Given the description of an element on the screen output the (x, y) to click on. 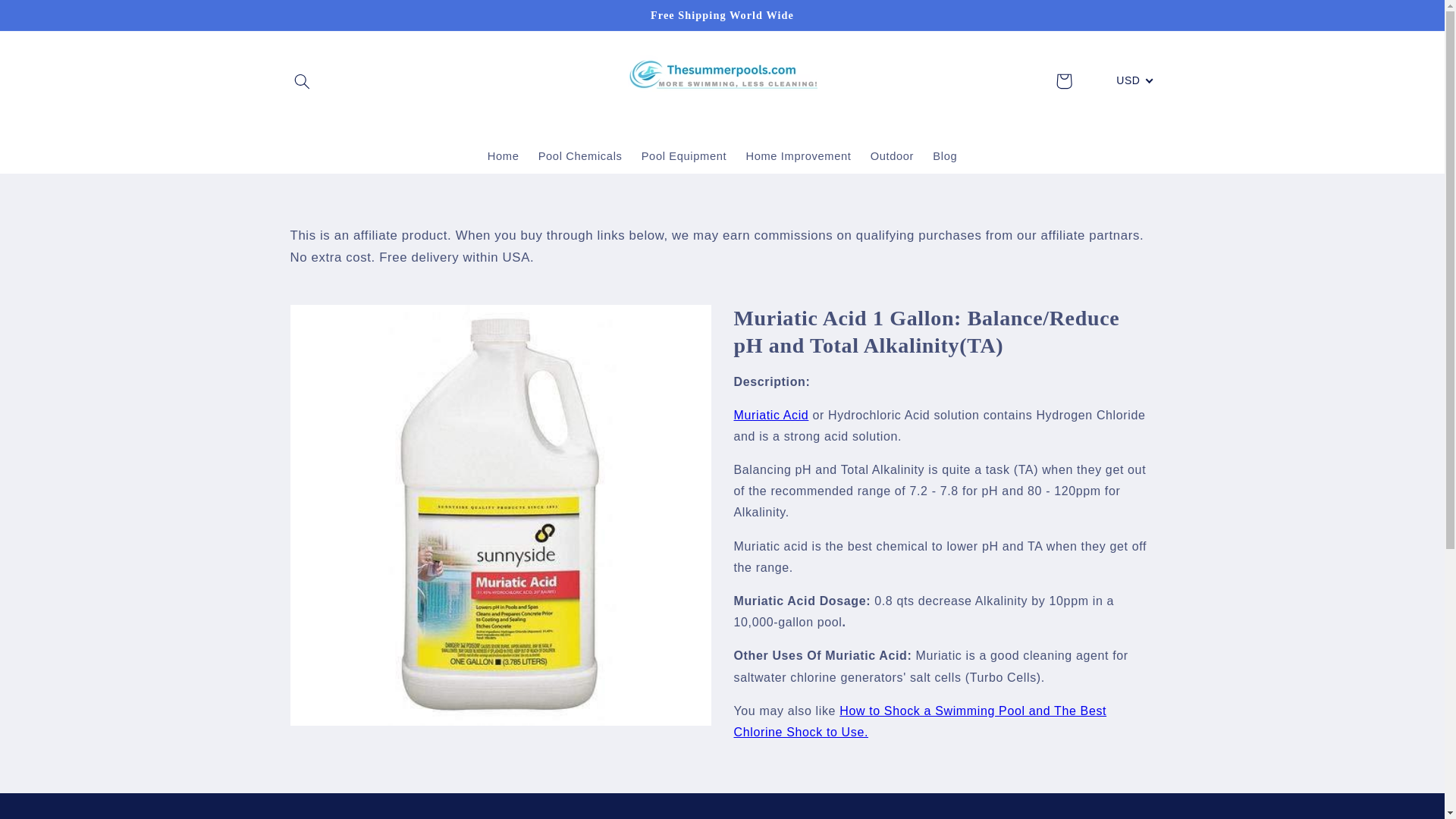
Cart (1063, 80)
Muriatic Acid for Swimming Pool (771, 414)
Blog (944, 156)
Home (502, 156)
Pool Equipment (683, 156)
Outdoor (891, 156)
Muriatic Acid (771, 414)
Skip to content (48, 18)
Home Improvement (798, 156)
